Given the description of an element on the screen output the (x, y) to click on. 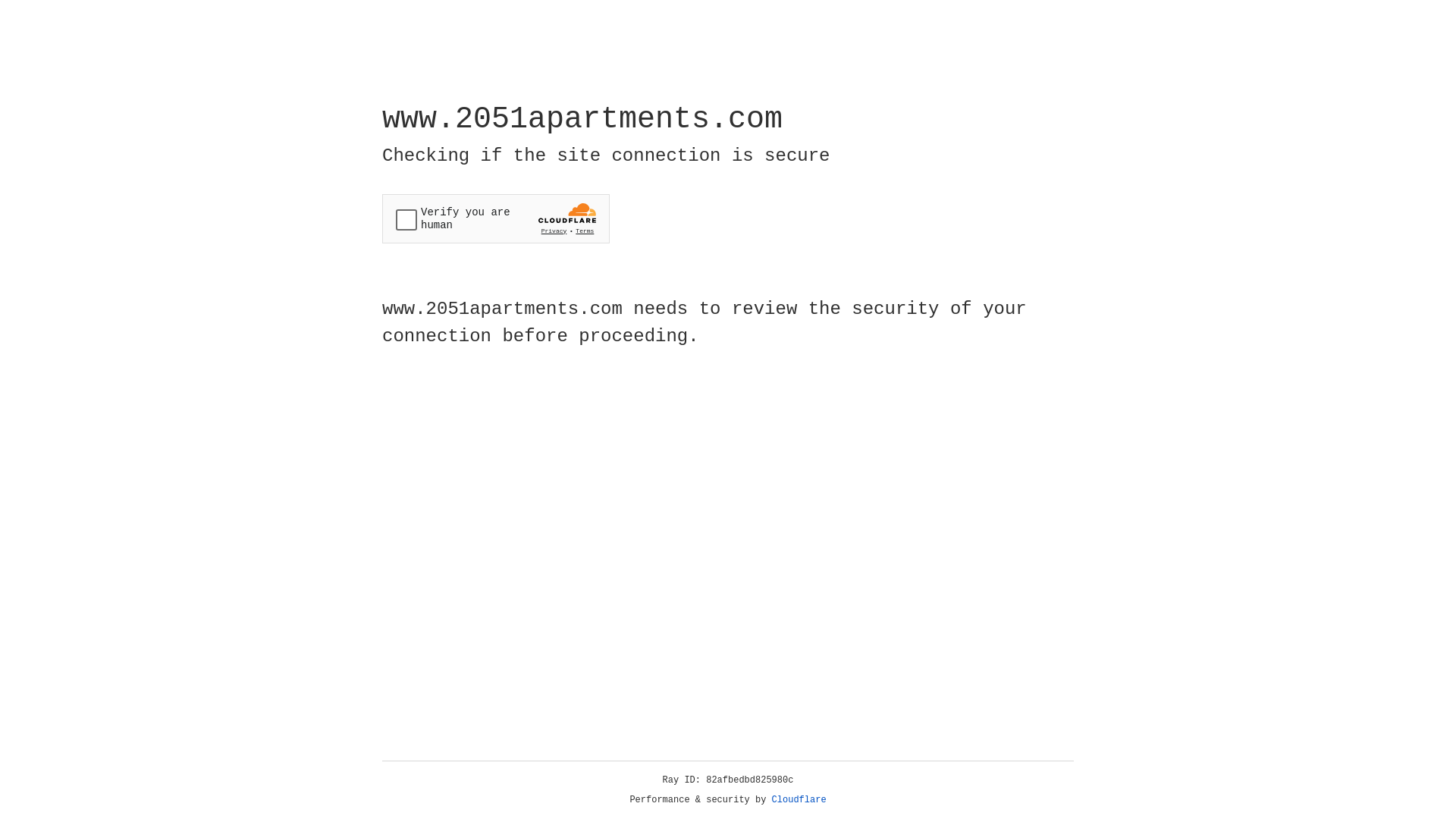
Widget containing a Cloudflare security challenge Element type: hover (495, 218)
Cloudflare Element type: text (798, 799)
